Given the description of an element on the screen output the (x, y) to click on. 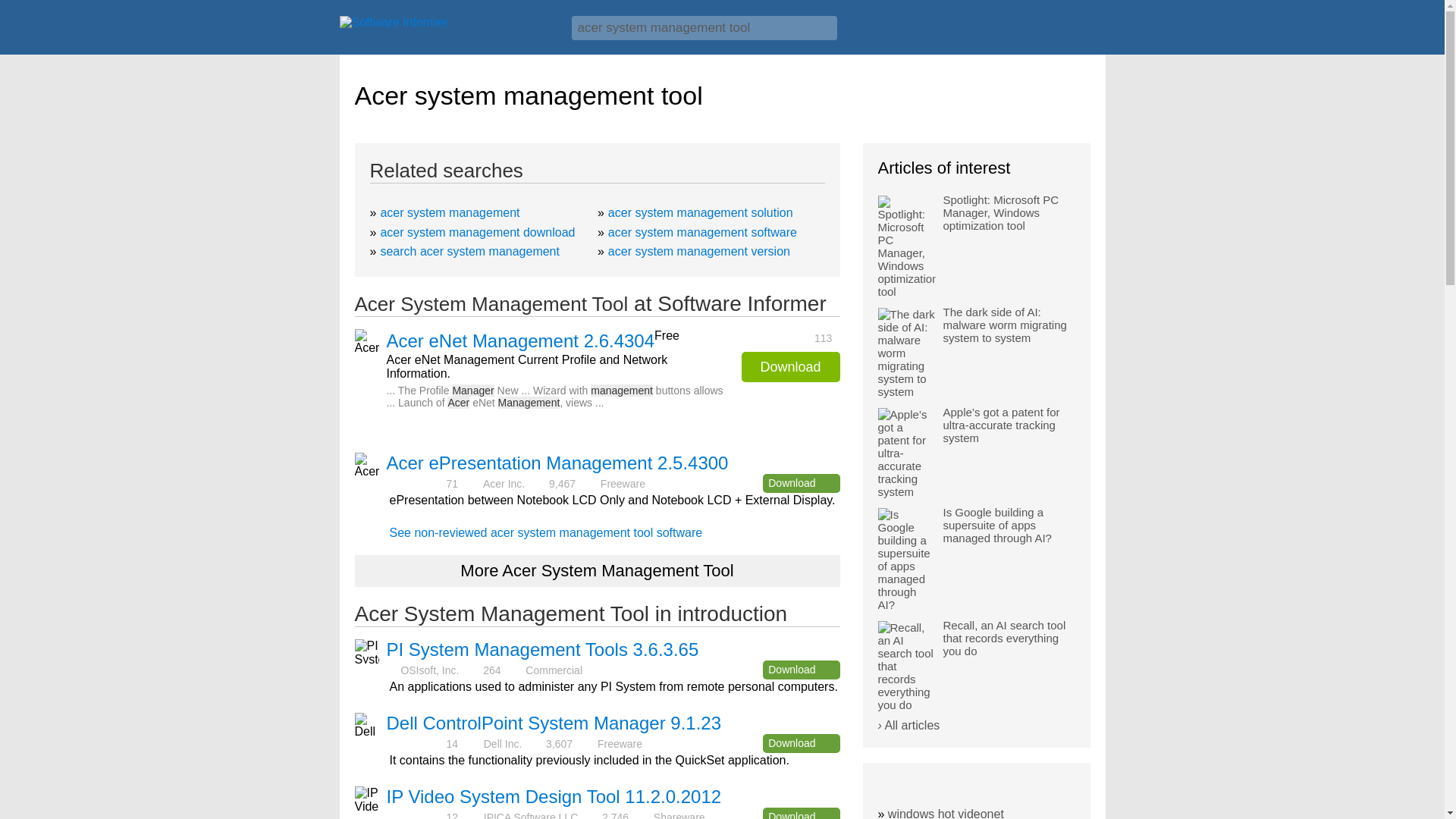
Download (801, 483)
Acer ePresentation Management 2.5.4300 (558, 462)
IP Video System Design Tool 11.2.0.2012 (554, 796)
PI System Management Tools 3.6.3.65 (542, 649)
Download (801, 813)
Acer eNet Management 2.6.4304 (521, 340)
acer system management (449, 212)
PI System Management Tools 3.6.3.65 (542, 649)
acer system management software (702, 232)
IP Video System Design Tool 11.2.0.2012 (554, 796)
search acer system management (469, 250)
Download (790, 367)
acer system management solution (700, 212)
See non-reviewed acer system management tool software (546, 532)
